Given the description of an element on the screen output the (x, y) to click on. 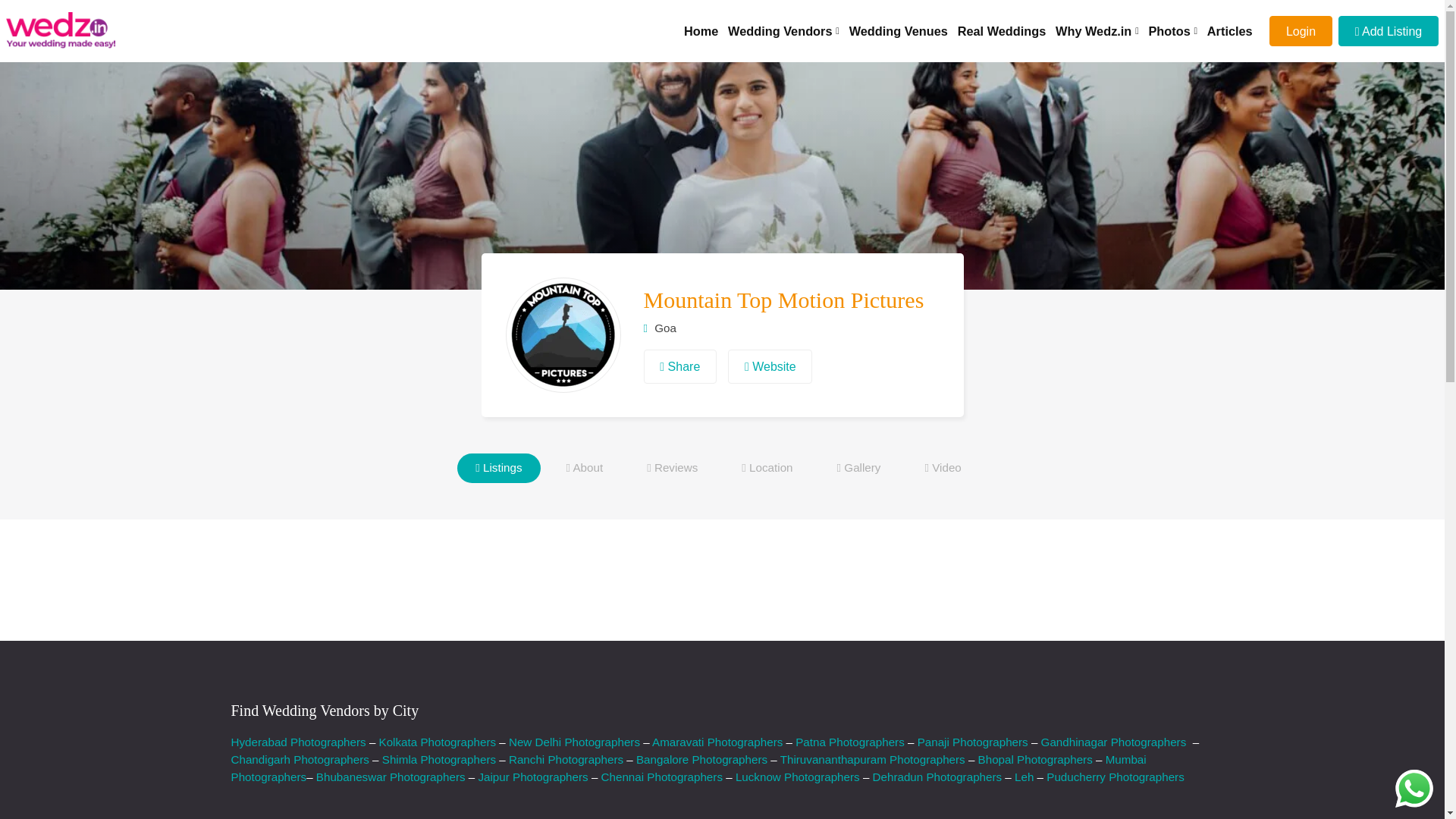
Real Weddings (1000, 31)
Reviews (672, 468)
Location (766, 468)
Why Wedz.in (1096, 31)
Listings (498, 468)
Video (941, 468)
Why Wedz.in (1096, 31)
Wedding Venues (898, 31)
Gallery (858, 468)
Wedding Vendors (783, 31)
Wedding Venues (898, 31)
Articles (1229, 31)
Website (770, 366)
Photos (1172, 31)
About (584, 468)
